Given the description of an element on the screen output the (x, y) to click on. 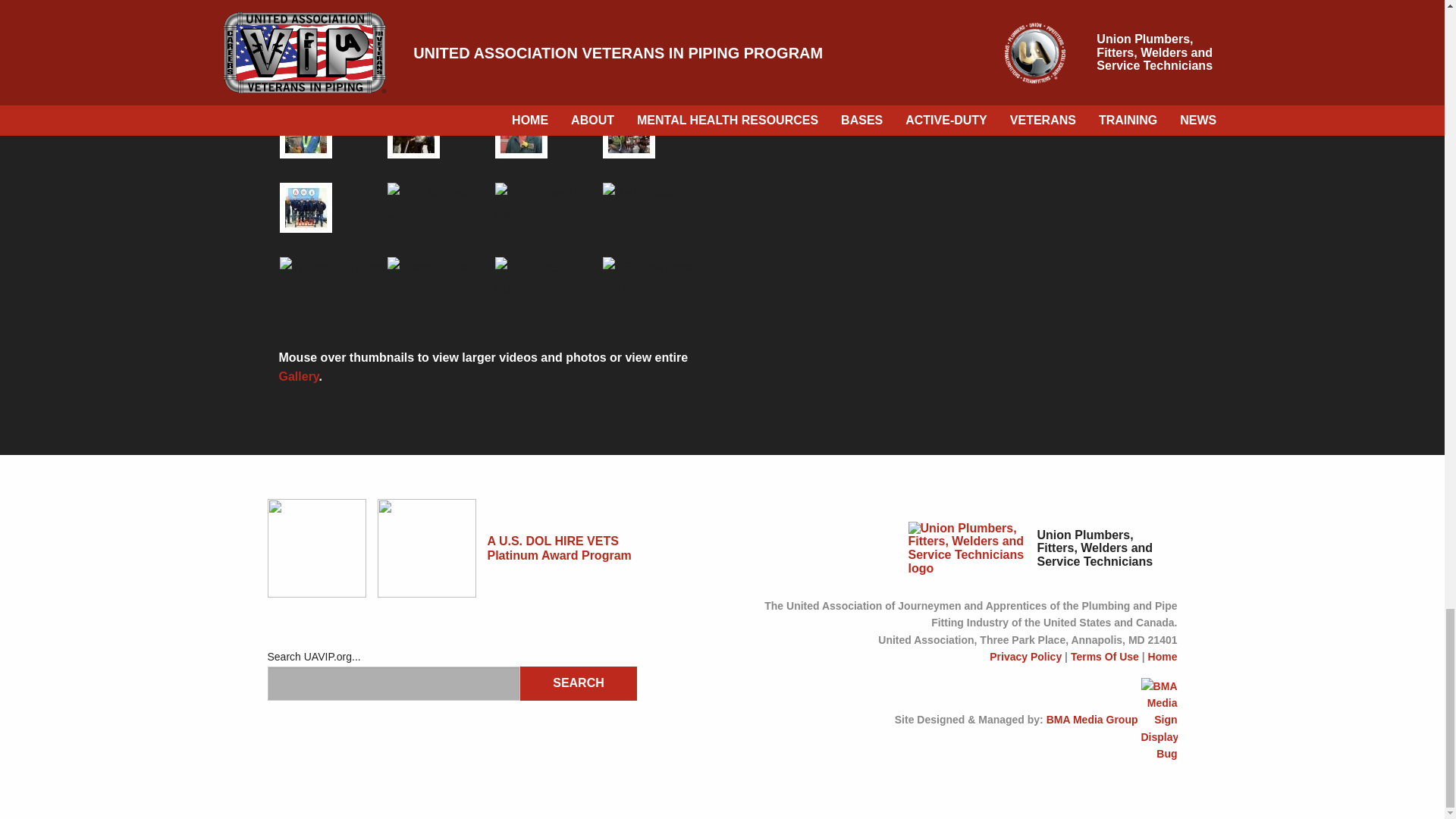
SFC Michael Olsen (441, 203)
SGT Howard Nash (548, 203)
Gail Pilecki (638, 192)
inaugural Sprinkler (305, 207)
Orry graduated (521, 133)
VIP Graduate David Adams (305, 133)
Camp Pendleton (413, 133)
William Davidson (331, 267)
Jerry Heneha (627, 133)
